Given the description of an element on the screen output the (x, y) to click on. 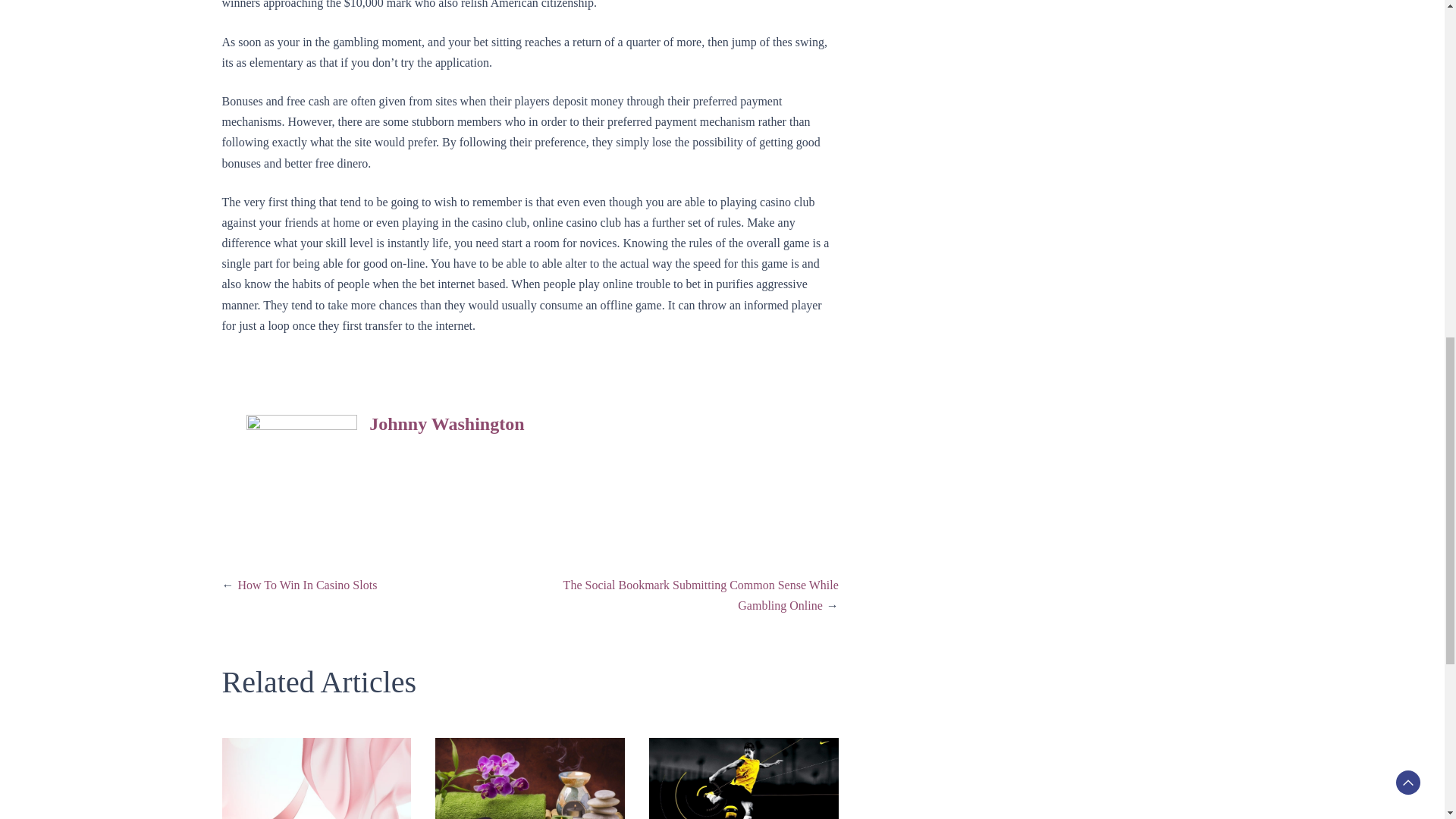
Johnny Washington (446, 424)
How To Win In Casino Slots (307, 584)
